Given the description of an element on the screen output the (x, y) to click on. 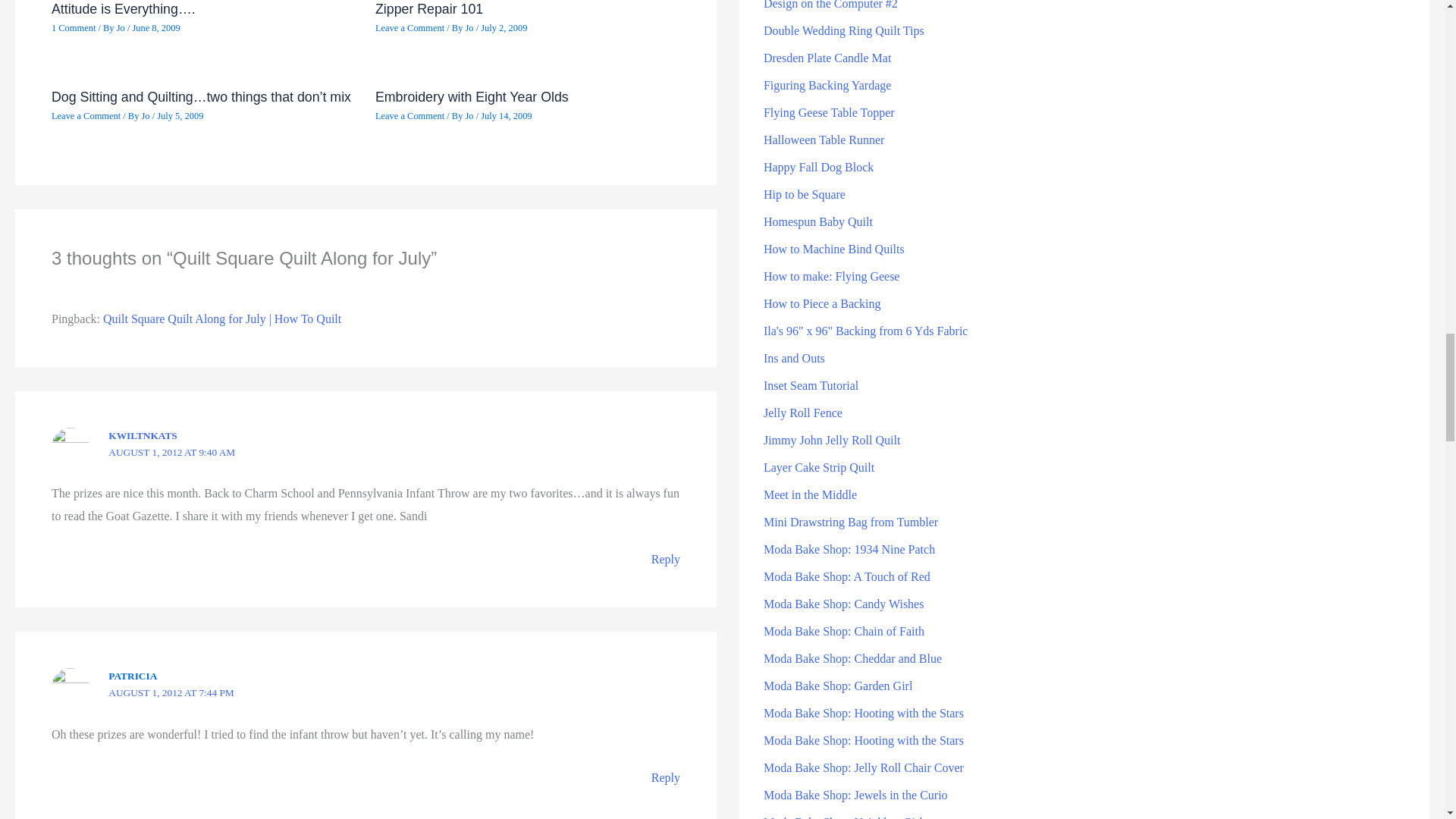
View all posts by Jo (146, 115)
View all posts by Jo (122, 27)
View all posts by Jo (470, 27)
View all posts by Jo (470, 115)
